Given the description of an element on the screen output the (x, y) to click on. 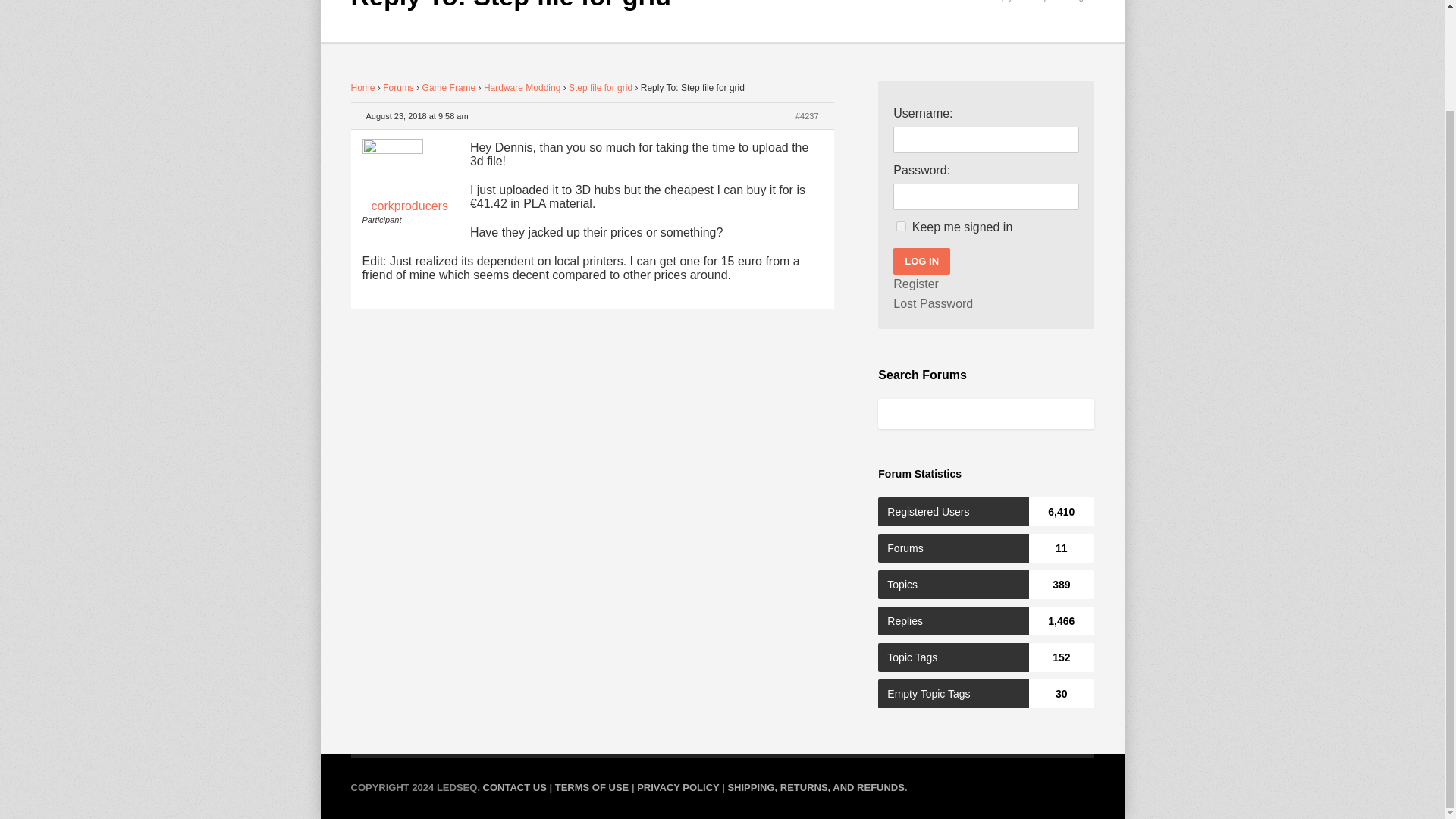
forever (900, 225)
PRIVACY POLICY (678, 787)
Register (916, 284)
Lost Password (932, 303)
corkproducers (410, 177)
View corkproducers's profile (410, 177)
LOG IN (921, 261)
CONTACT US (515, 787)
Step file for grid (600, 87)
Hardware Modding (521, 87)
